Given the description of an element on the screen output the (x, y) to click on. 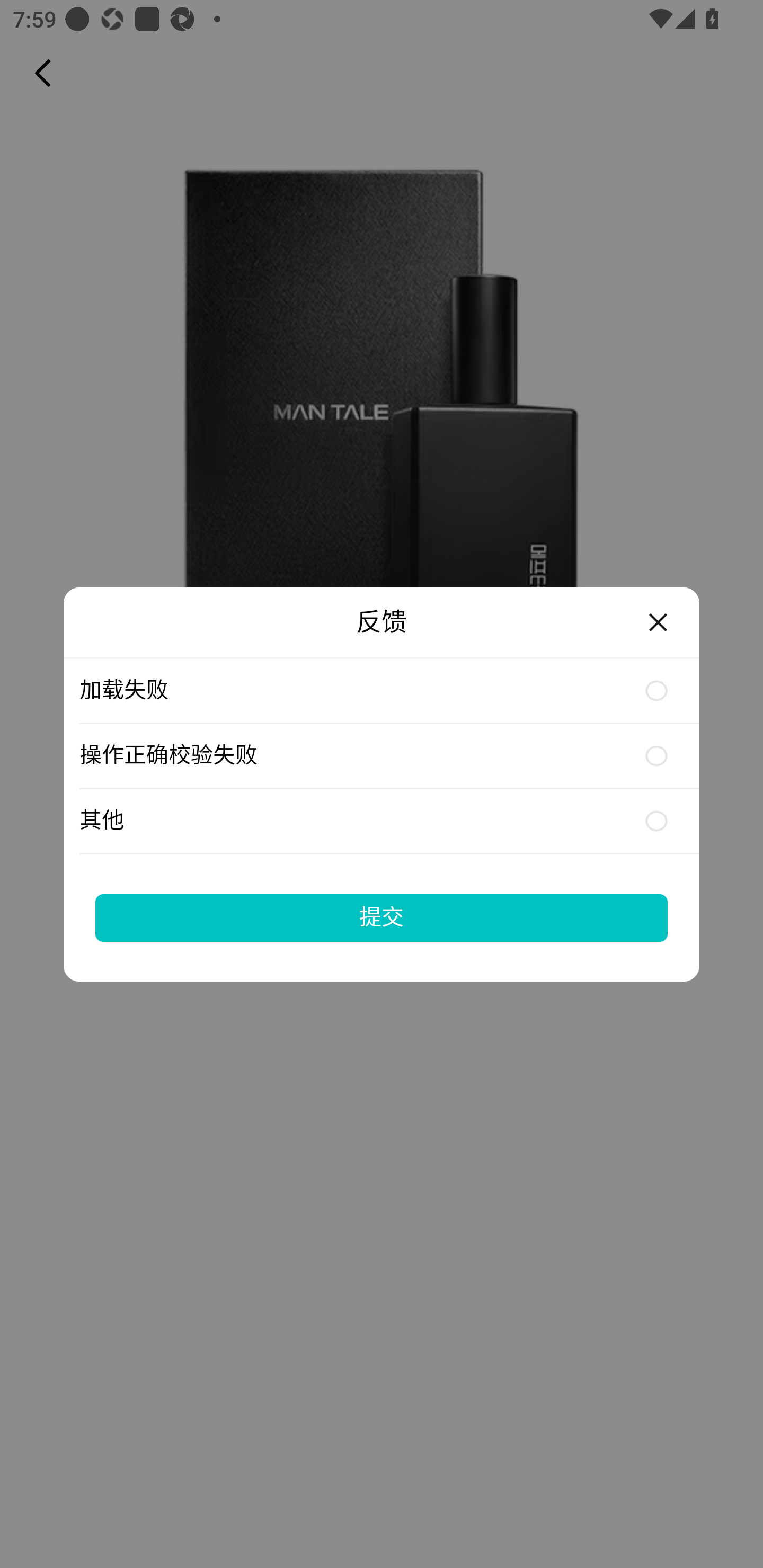
提交 (381, 917)
